Given the description of an element on the screen output the (x, y) to click on. 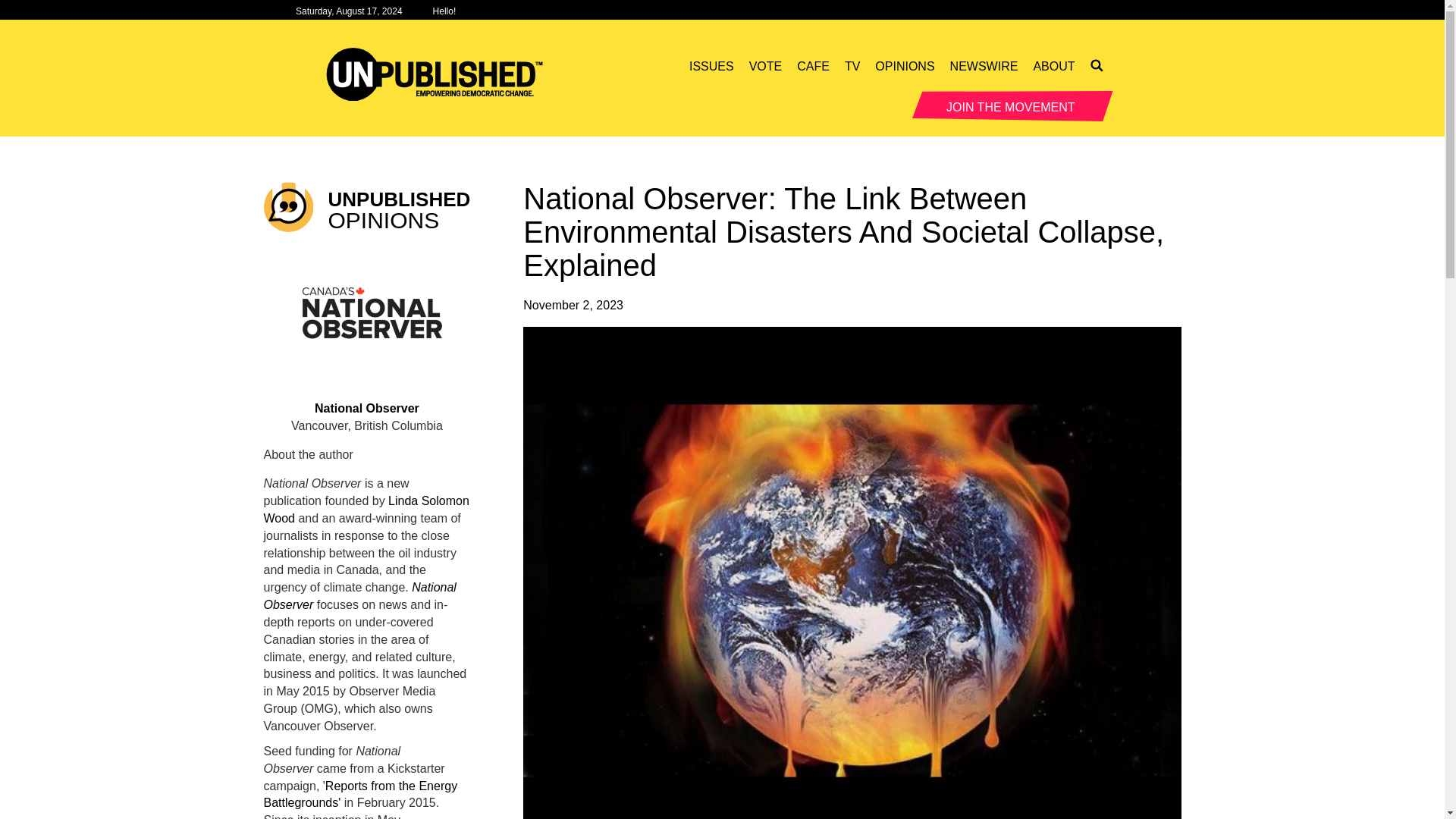
View user profile. (366, 315)
JOIN THE MOVEMENT (1012, 105)
Reports from the Energy Battlegrounds' (360, 794)
OPINIONS (904, 66)
National Observer (360, 595)
CAFE (813, 66)
ABOUT (1053, 66)
Home (439, 74)
SEARCH ICONA MAGNIFYING GLASS ICON. (1097, 66)
